Given the description of an element on the screen output the (x, y) to click on. 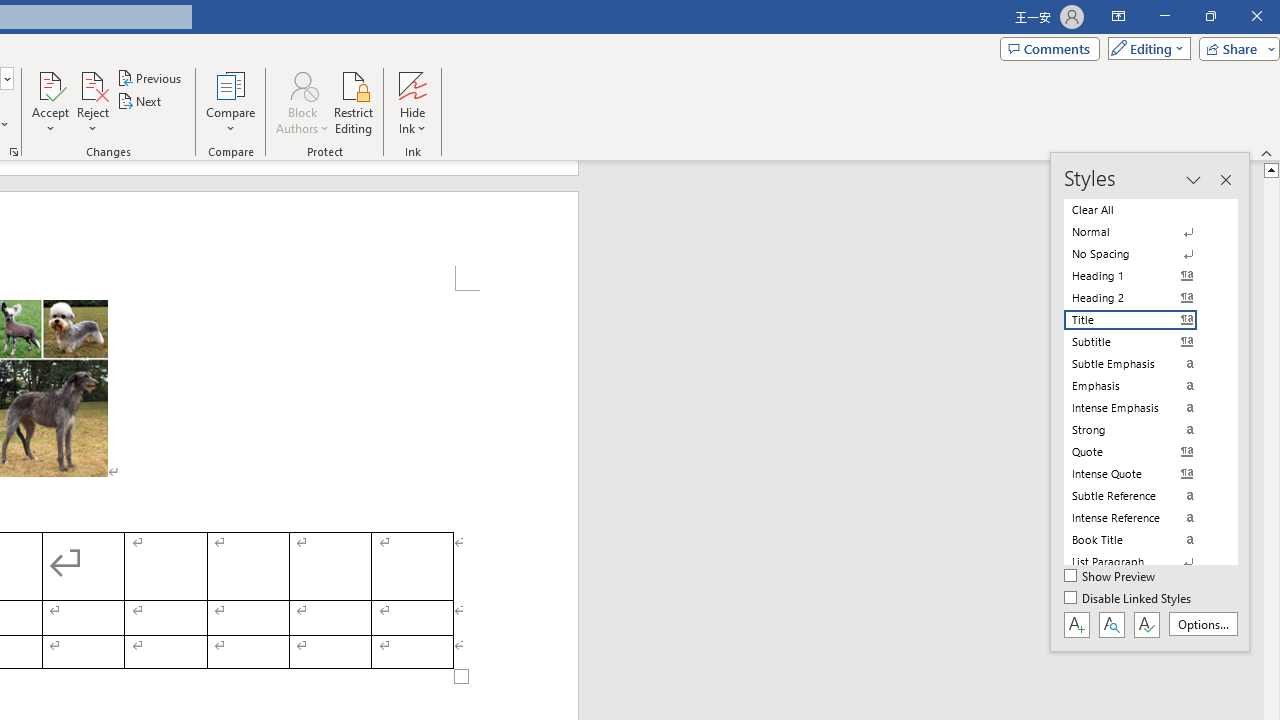
Show Preview (1110, 577)
Block Authors (302, 84)
Block Authors (302, 102)
Restrict Editing (353, 102)
More Options (412, 121)
Class: NetUIImage (1129, 561)
Minimize (1164, 16)
Reject (92, 102)
Close (1256, 16)
Intense Emphasis (1142, 407)
Editing (1144, 47)
Task Pane Options (1193, 179)
Hide Ink (412, 102)
Disable Linked Styles (1129, 599)
List Paragraph (1142, 561)
